Given the description of an element on the screen output the (x, y) to click on. 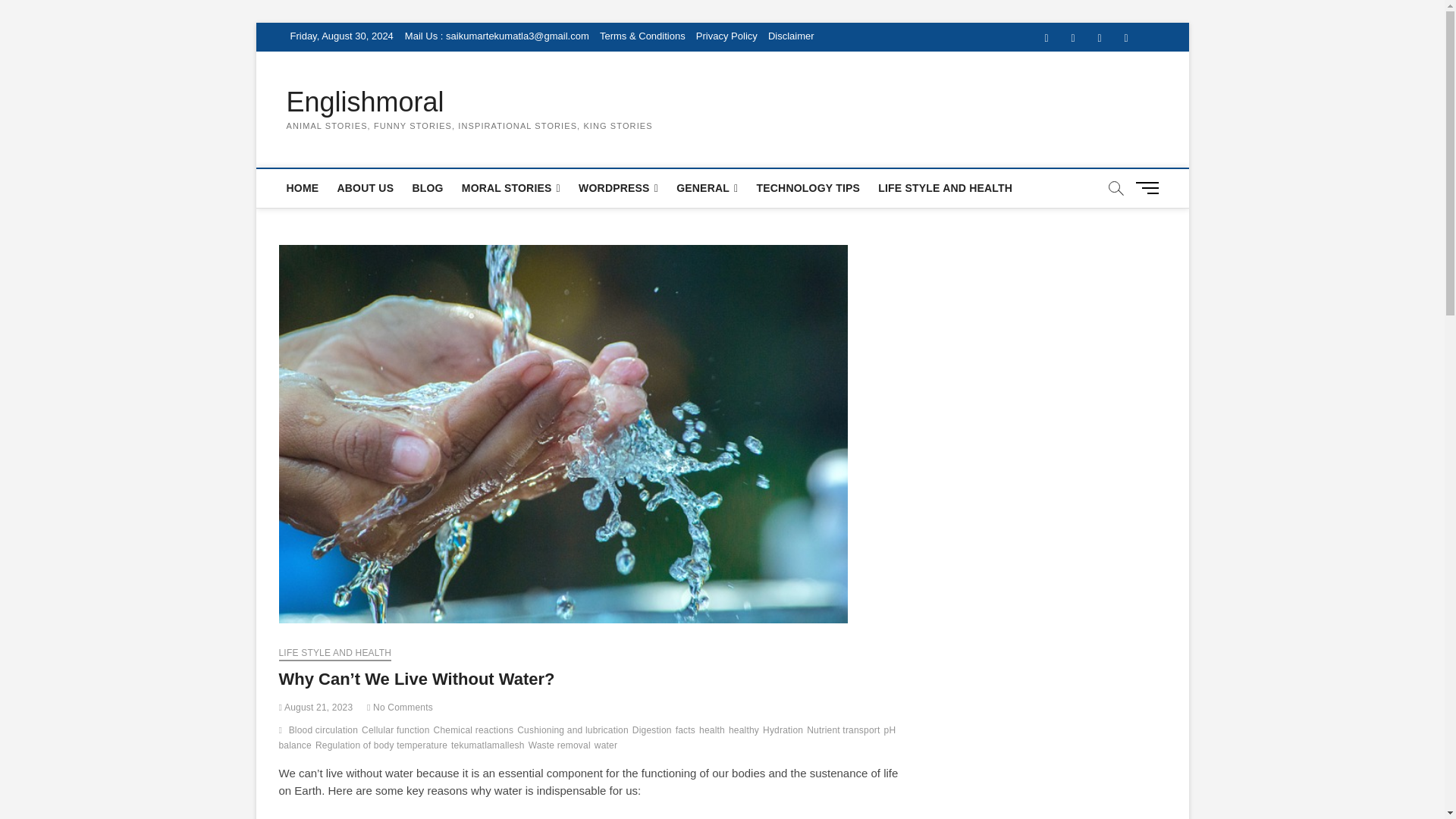
Twitter (1072, 38)
Menu Button (1150, 187)
WORDPRESS (617, 188)
LIFE STYLE AND HEALTH (945, 187)
GENERAL (706, 188)
August 21, 2023 (316, 706)
TECHNOLOGY TIPS (808, 187)
HOME (302, 187)
Englishmoral (469, 101)
Disclaimer (790, 35)
